Given the description of an element on the screen output the (x, y) to click on. 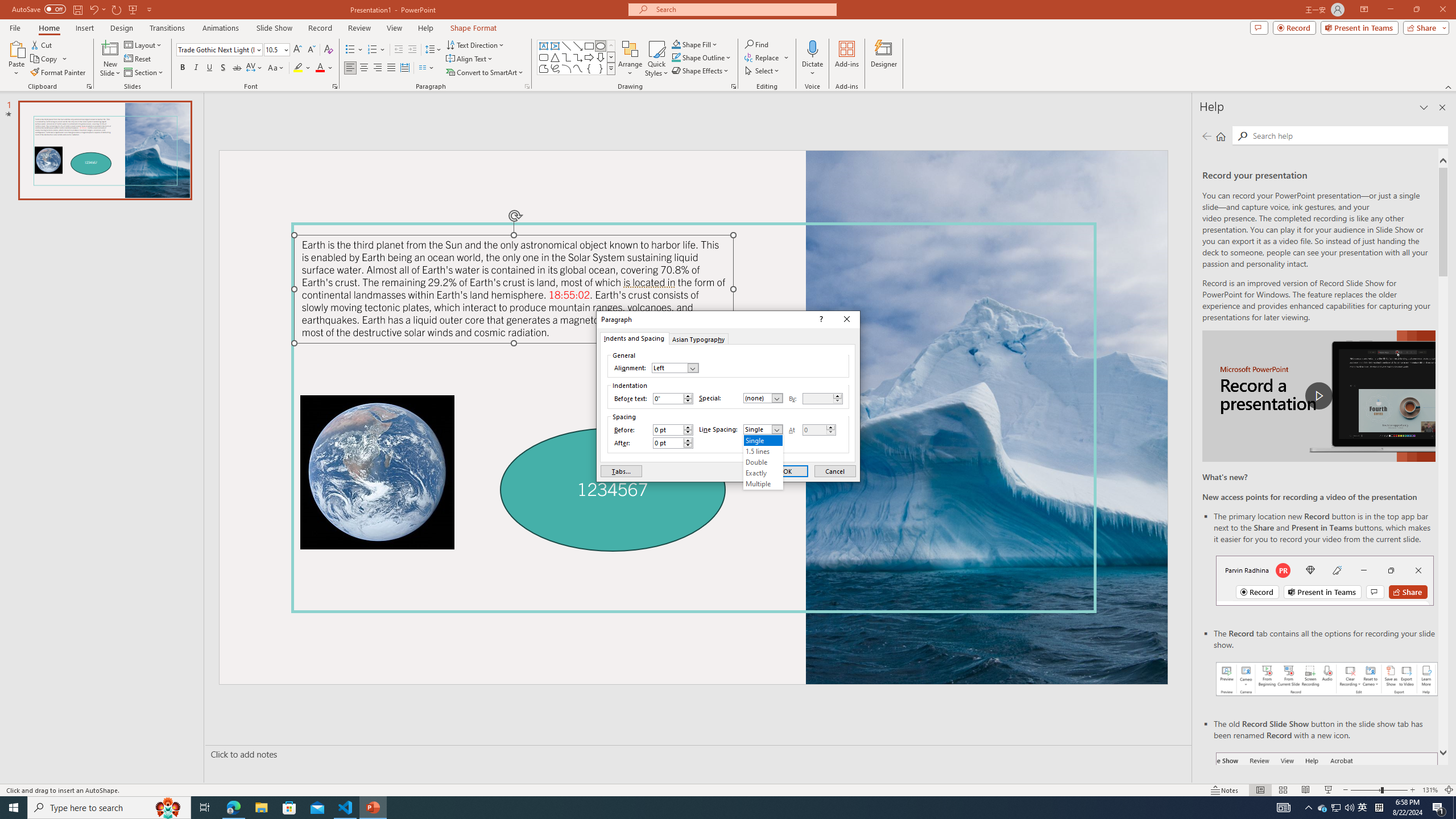
At (814, 429)
Record your presentations screenshot one (1326, 678)
